Given the description of an element on the screen output the (x, y) to click on. 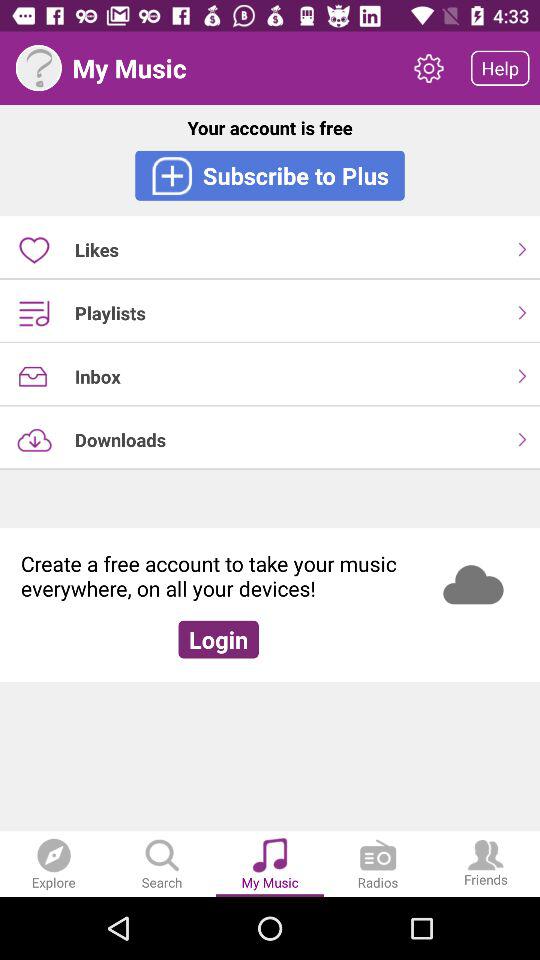
click the subscribe to plus (269, 175)
